Given the description of an element on the screen output the (x, y) to click on. 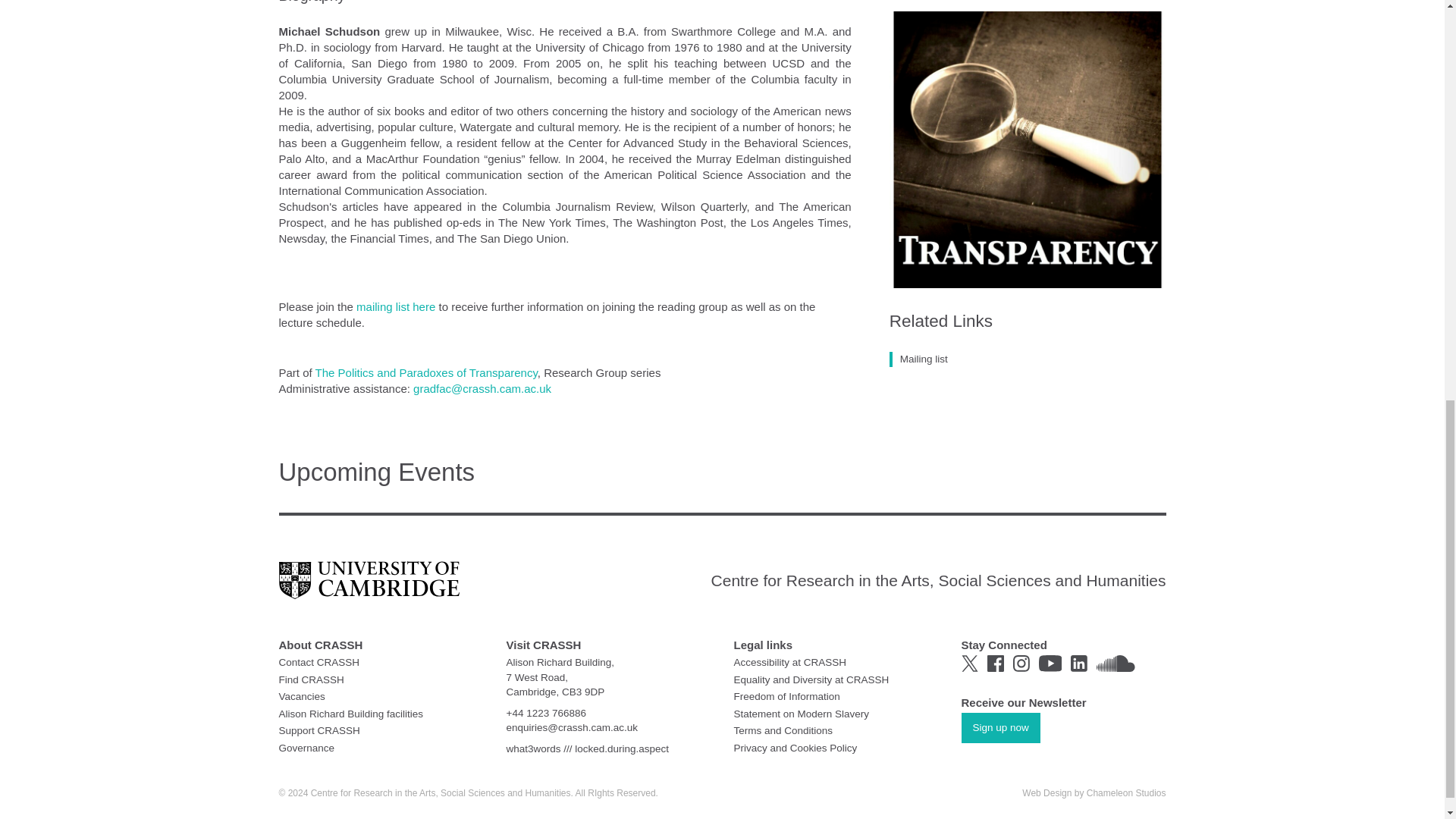
Alison Richard Building facilities (351, 713)
Accessibility at CRASSH (790, 662)
Terms and Conditions (782, 730)
mailing list here  (397, 306)
Support CRASSH (319, 730)
Equality and Diversity at CRASSH (811, 678)
Statement on Modern Slavery (801, 713)
Find CRASSH (311, 678)
Privacy and Cookies Policy (795, 747)
Freedom of Information (786, 696)
Governance (306, 747)
Contact CRASSH (319, 662)
Vacancies (301, 696)
The Politics and Paradoxes of Transparency (426, 372)
